Given the description of an element on the screen output the (x, y) to click on. 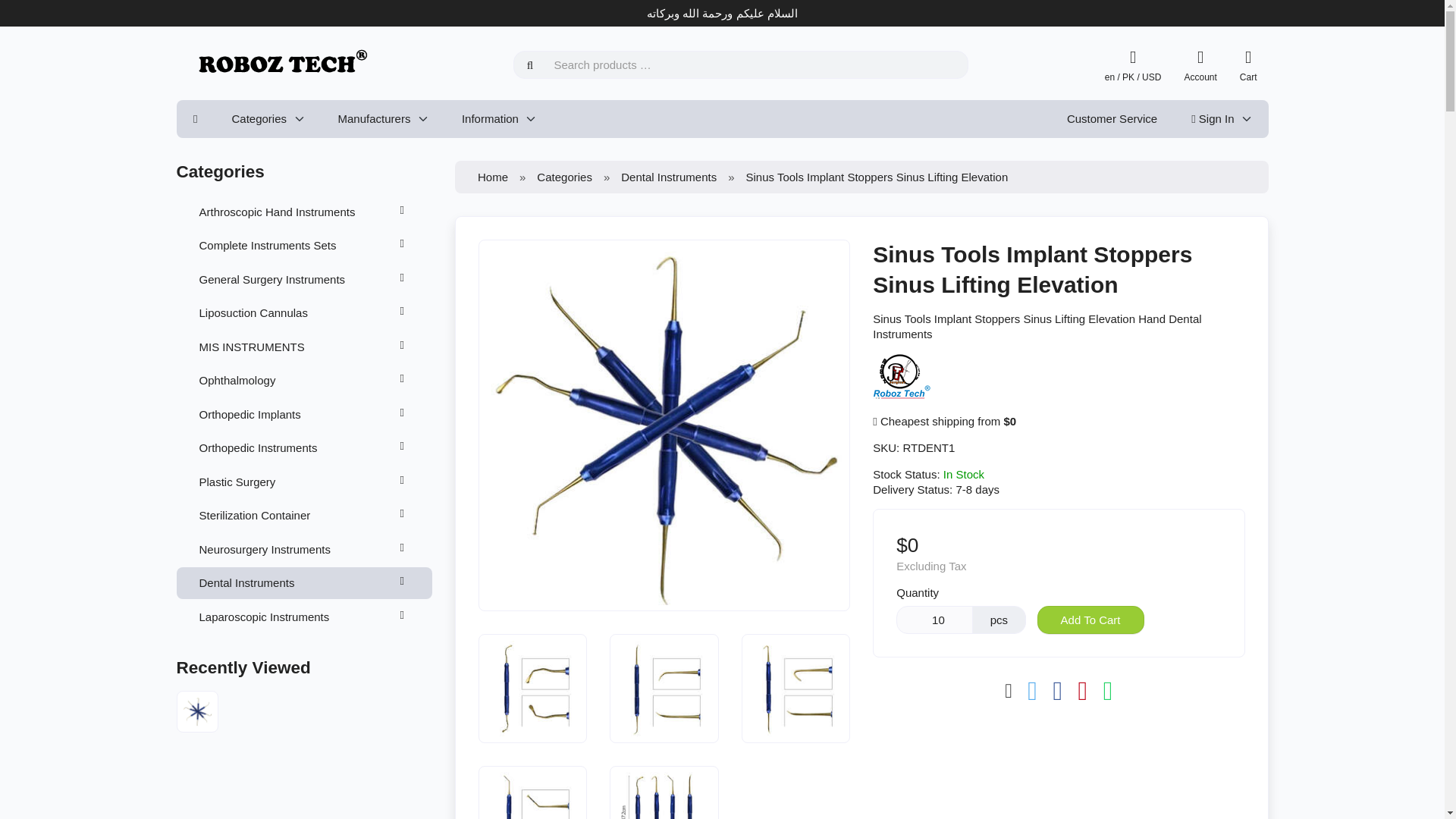
Liposuction Cannulas (304, 313)
Information (498, 118)
Manufacturers (382, 118)
Sinus Tools Implant Stoppers Sinus Lifting Elevation (795, 688)
Sign In (1221, 118)
Arthroscopic Hand Instruments (304, 211)
General Surgery Instruments (304, 278)
ROBOZ TECH (901, 375)
Orthopedic Implants (304, 413)
Categories (267, 118)
